Given the description of an element on the screen output the (x, y) to click on. 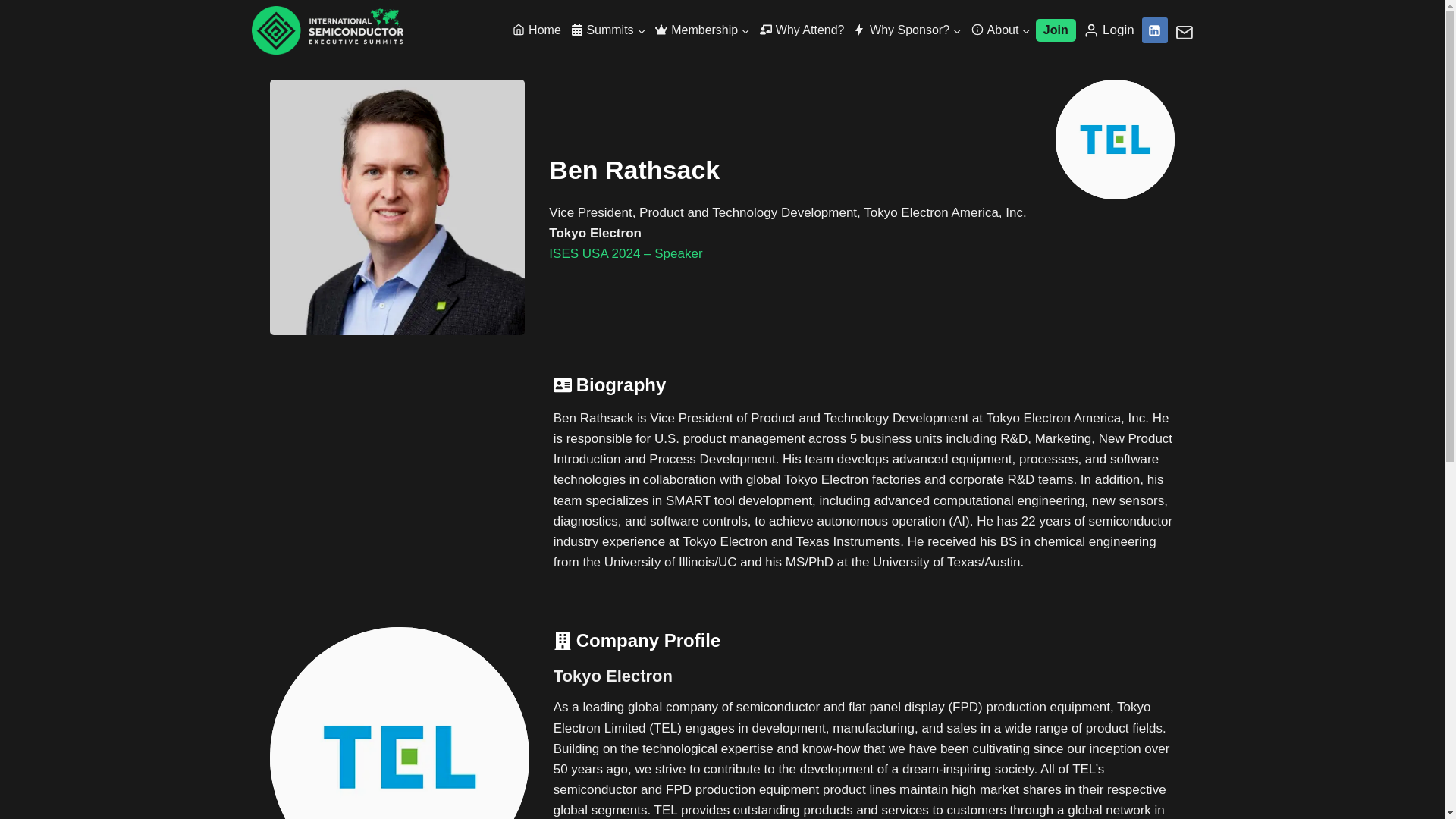
Summits (608, 29)
Home (537, 29)
